Given the description of an element on the screen output the (x, y) to click on. 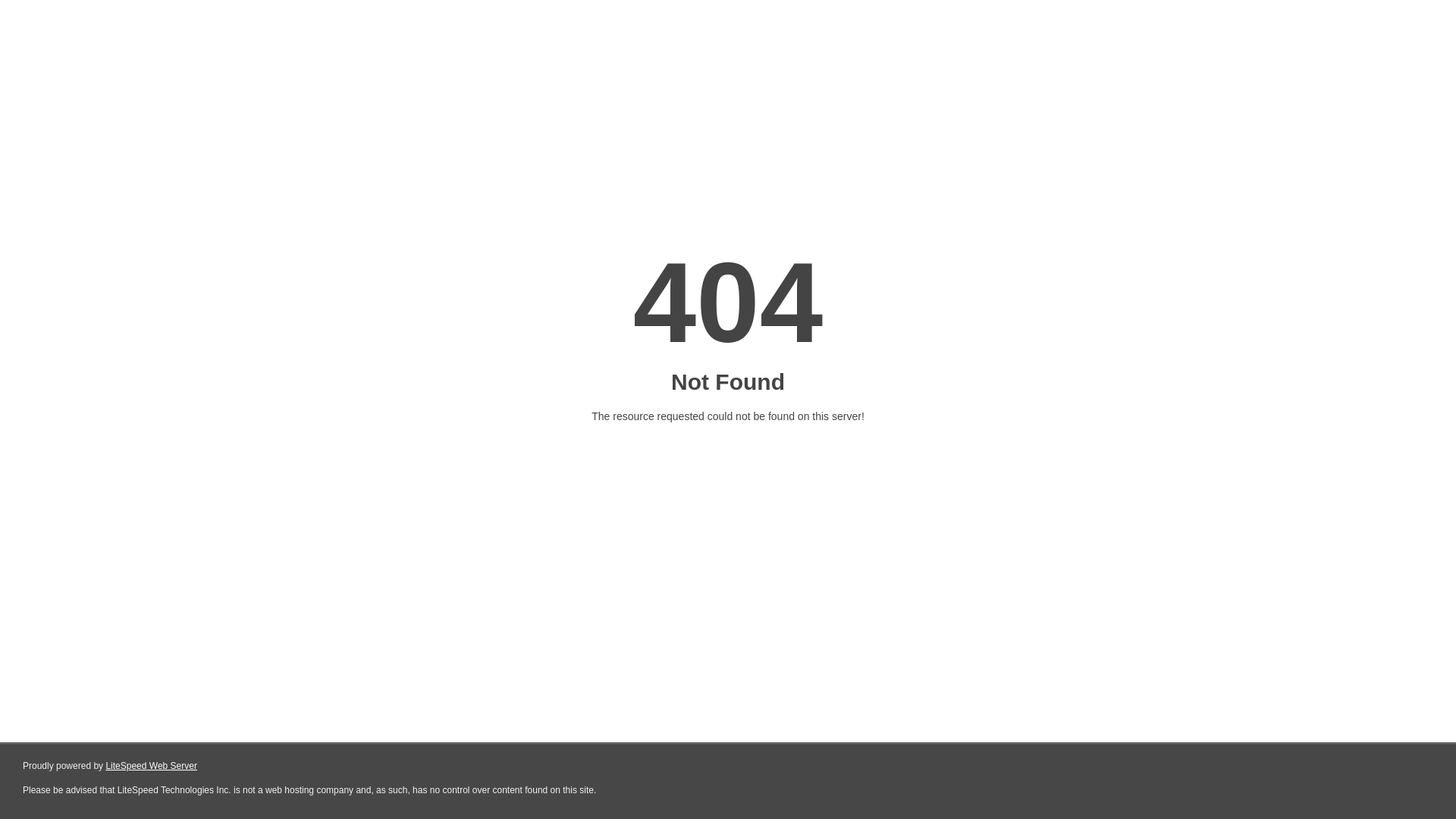
LiteSpeed Web Server Element type: text (151, 765)
